Given the description of an element on the screen output the (x, y) to click on. 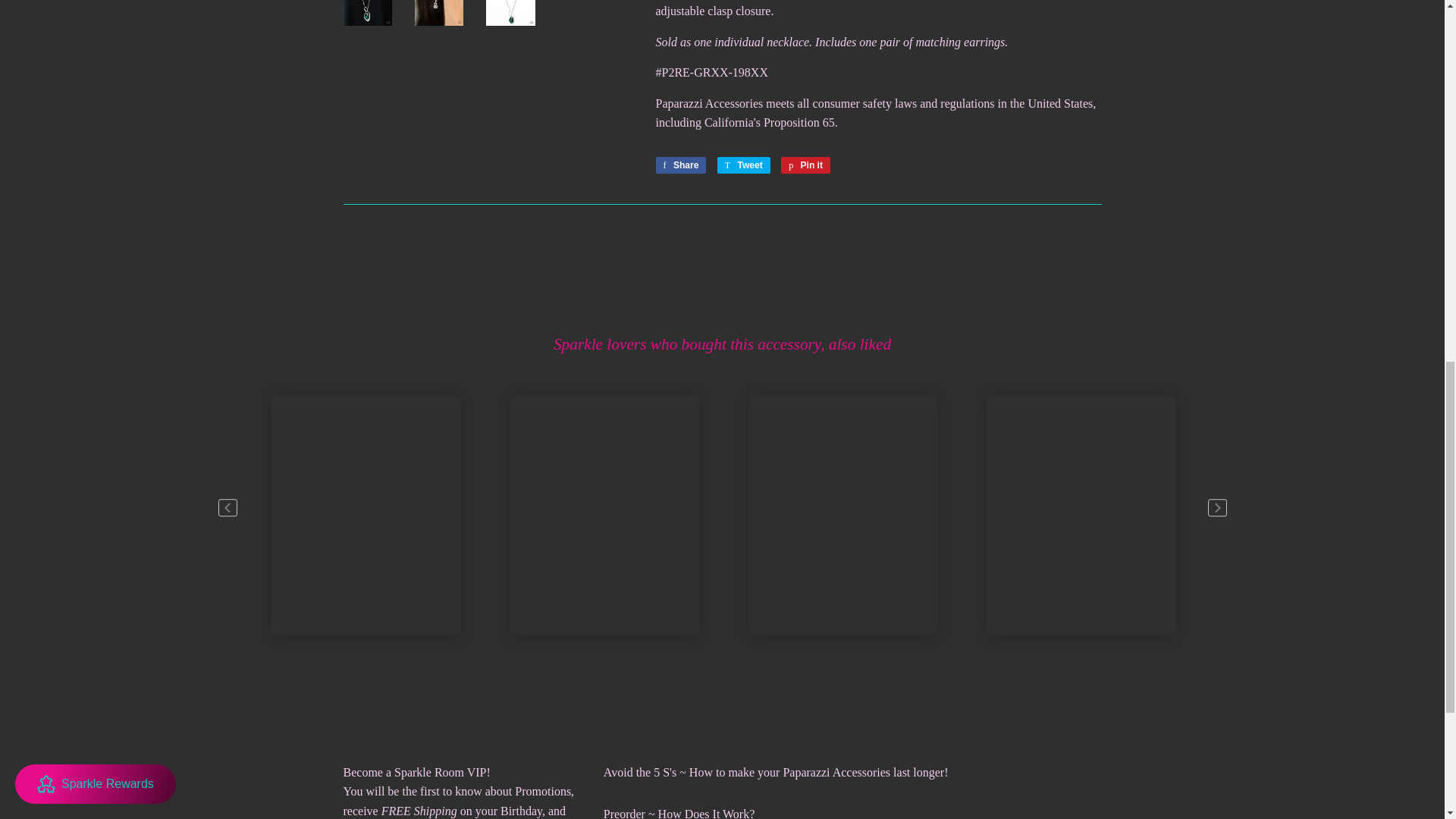
Pin on Pinterest (804, 165)
Share on Facebook (680, 165)
Tweet on Twitter (743, 165)
